Given the description of an element on the screen output the (x, y) to click on. 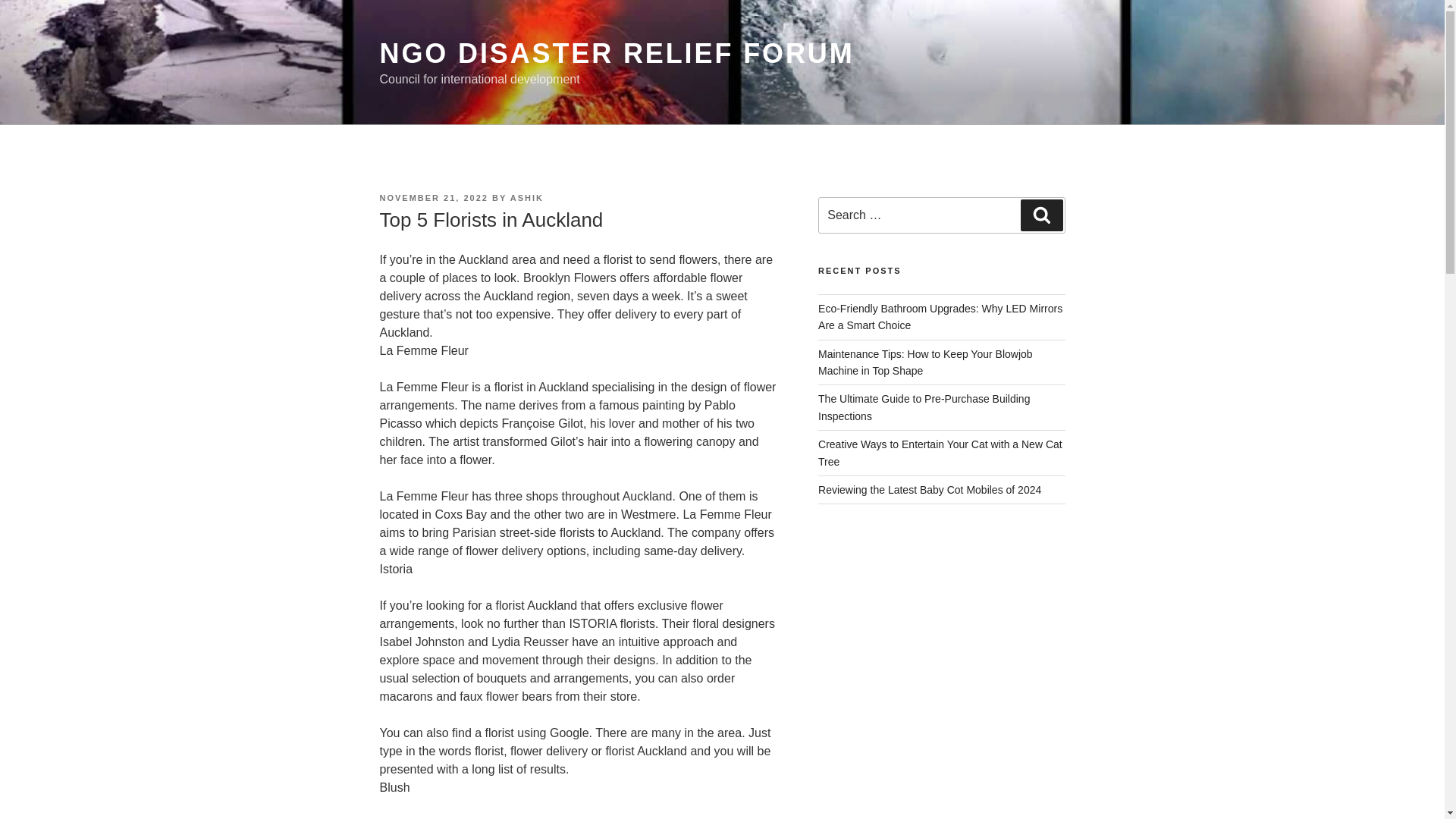
NOVEMBER 21, 2022 (432, 197)
ASHIK (527, 197)
Search (1041, 214)
Reviewing the Latest Baby Cot Mobiles of 2024 (929, 490)
Creative Ways to Entertain Your Cat with a New Cat Tree (940, 452)
NGO DISASTER RELIEF FORUM (615, 52)
The Ultimate Guide to Pre-Purchase Building Inspections (923, 407)
